Given the description of an element on the screen output the (x, y) to click on. 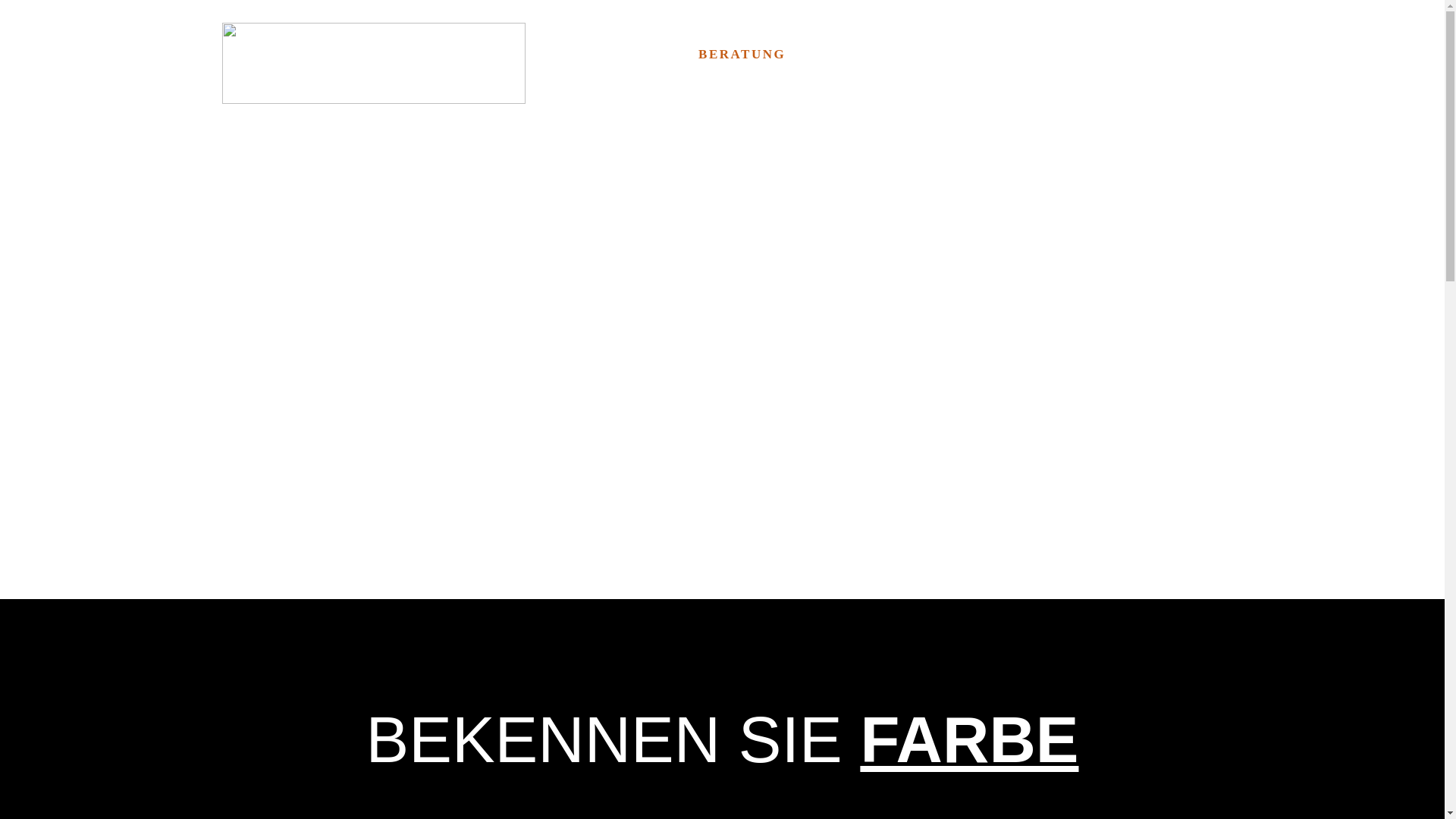
REFERENZEN Element type: text (973, 57)
LEISTUNGEN Element type: text (852, 57)
BERATUNG Element type: text (741, 57)
KONTAKT Element type: text (1175, 57)
